Given the description of an element on the screen output the (x, y) to click on. 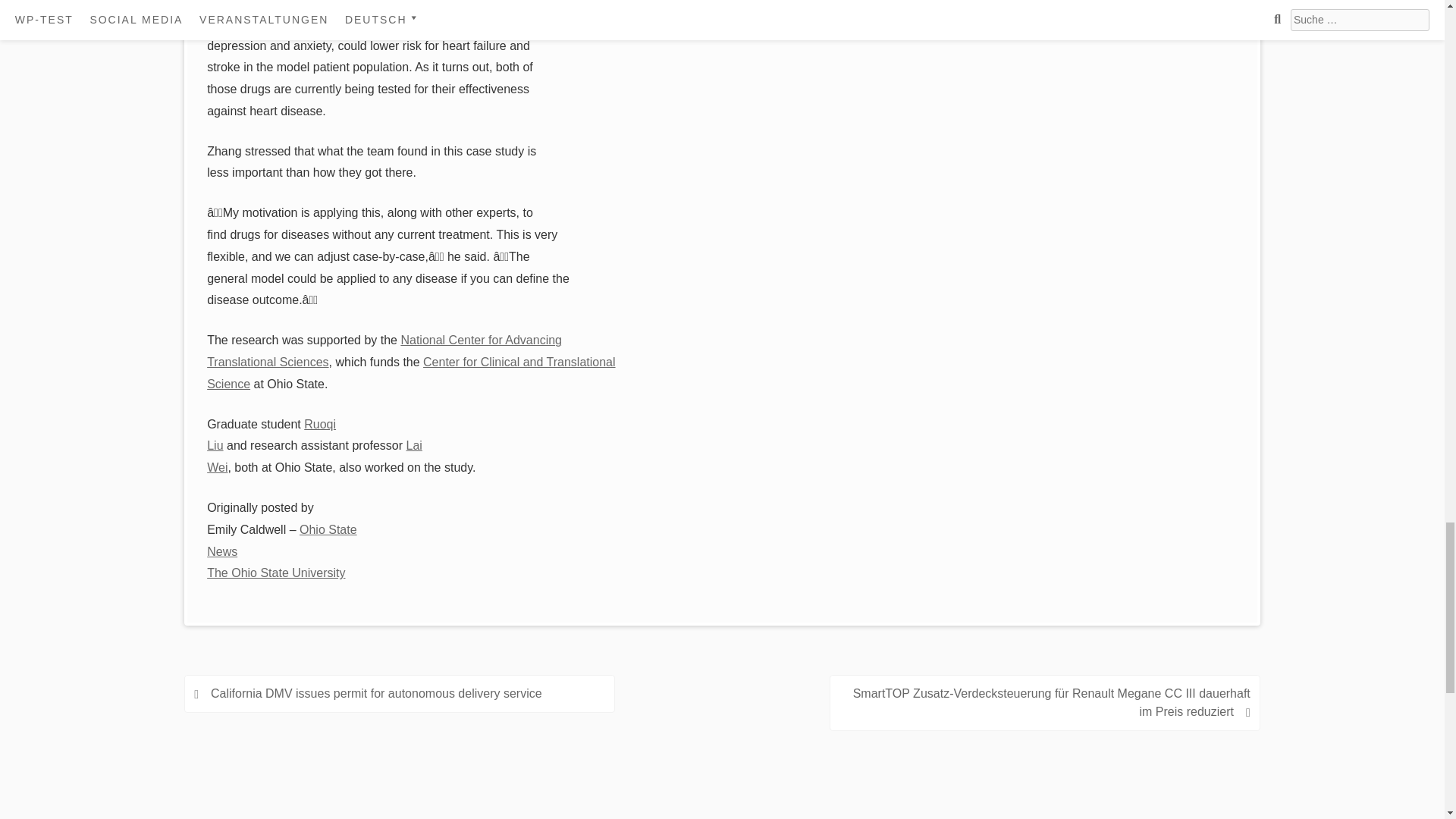
The Ohio State University (275, 572)
California DMV issues permit for autonomous delivery service (384, 350)
